Given the description of an element on the screen output the (x, y) to click on. 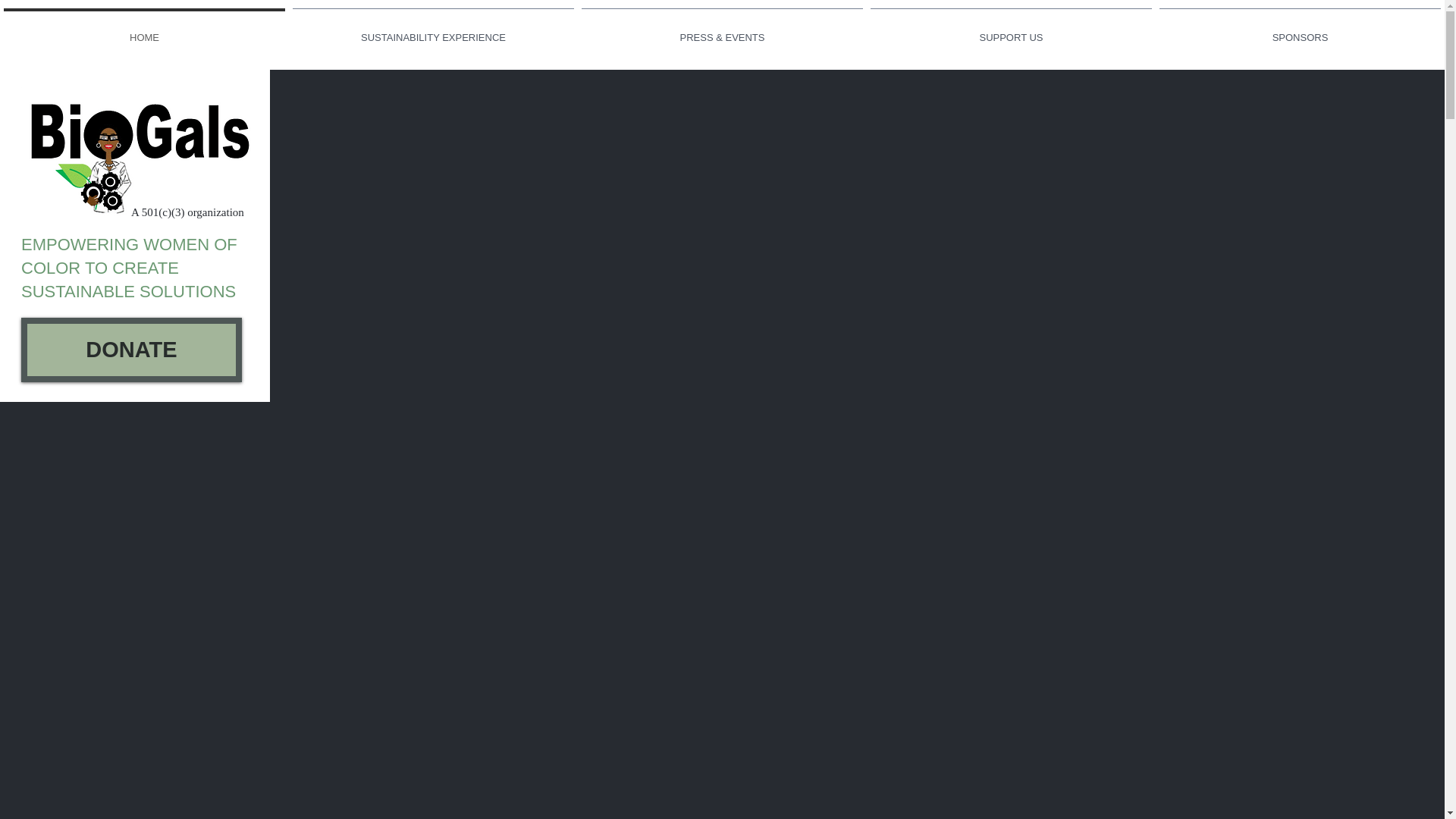
SUPPORT US (1011, 31)
SUSTAINABILITY EXPERIENCE (433, 31)
HOME (144, 31)
DONATE (131, 349)
